Given the description of an element on the screen output the (x, y) to click on. 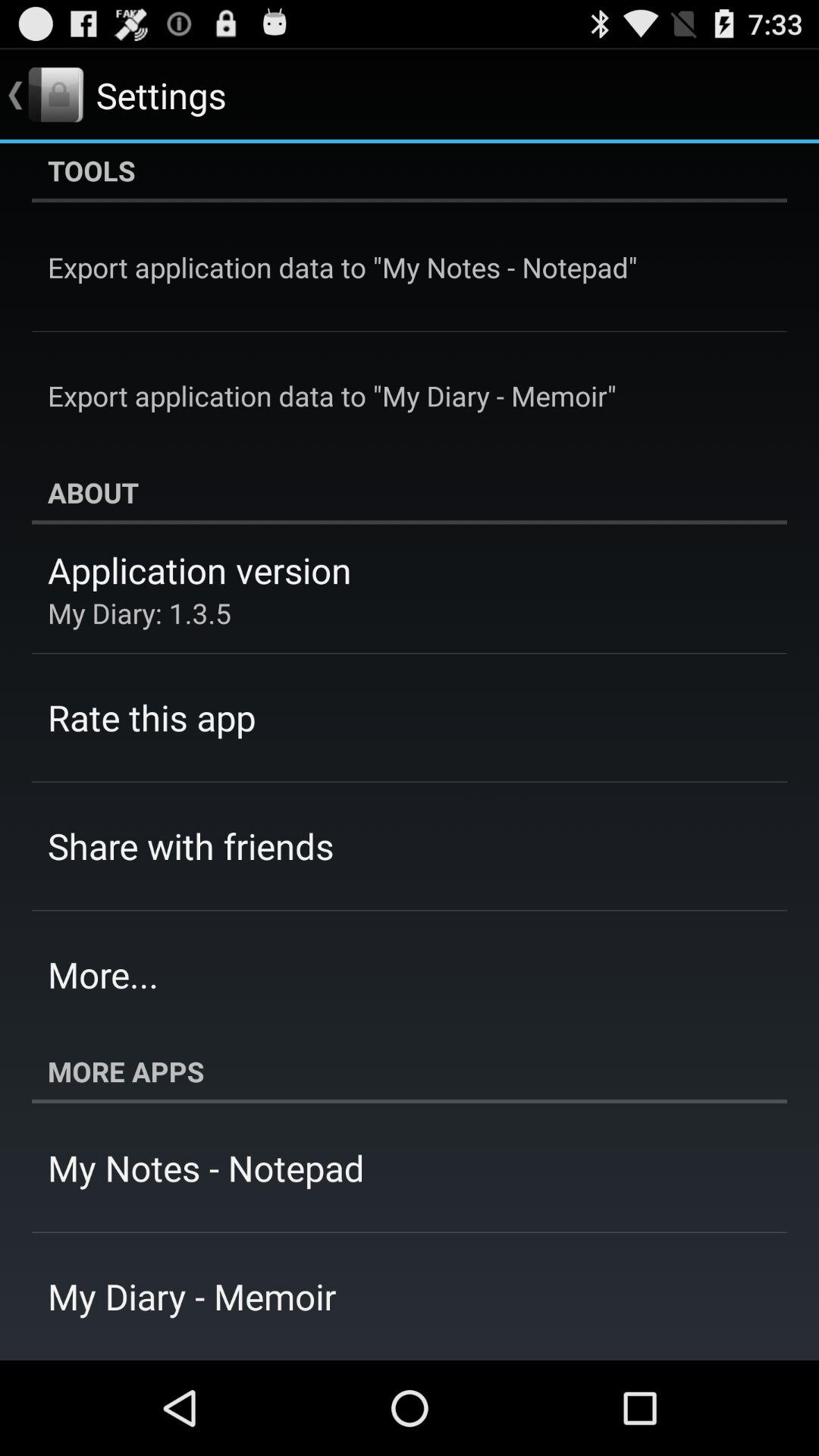
turn on the more... app (102, 974)
